Given the description of an element on the screen output the (x, y) to click on. 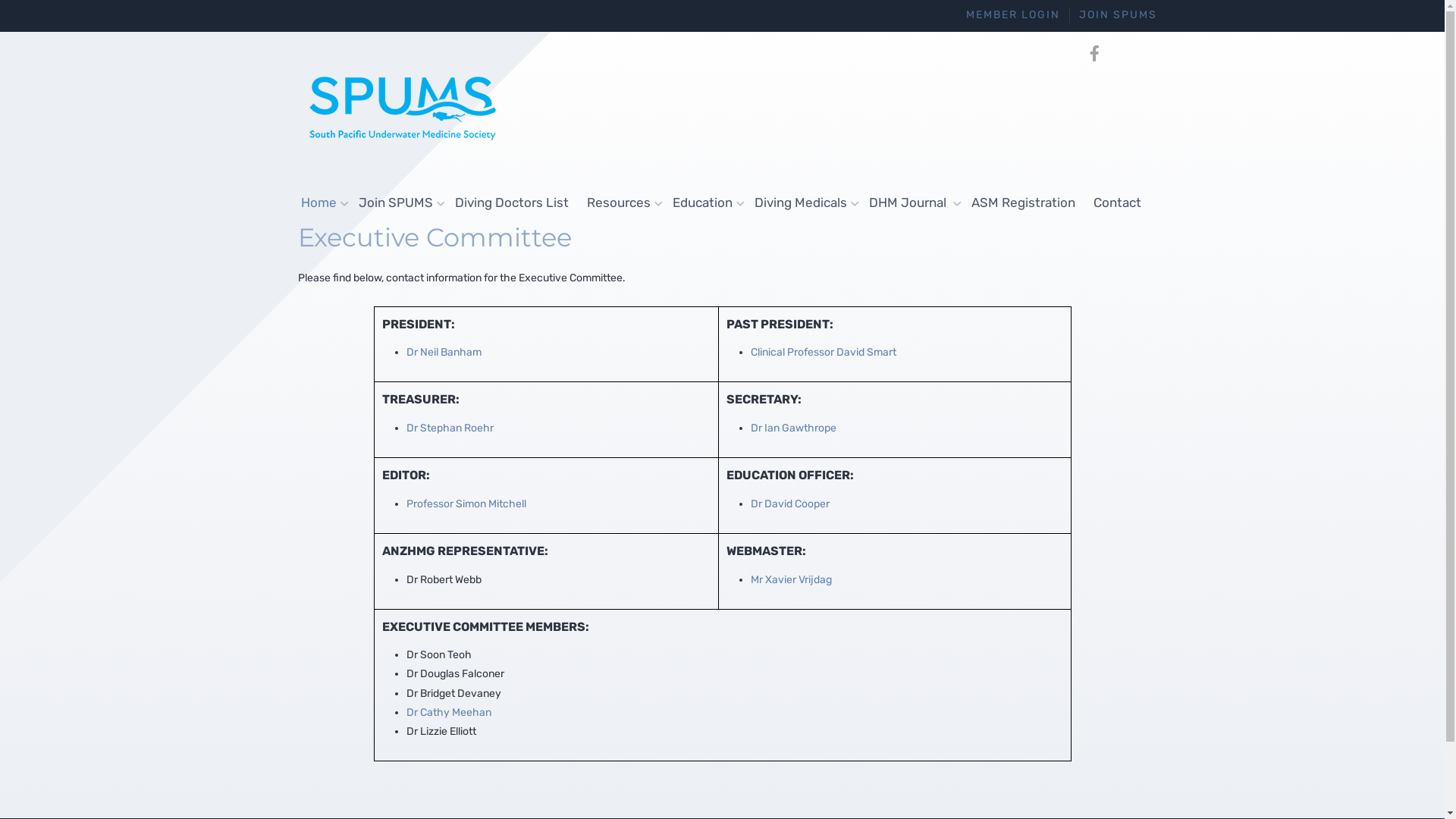
Clinical Professor David Smart Element type: text (823, 351)
Resources Element type: text (620, 202)
Join SPUMS Element type: text (396, 202)
Dr Stephan Roehr Element type: text (449, 427)
Education Element type: text (703, 202)
Dr Neil Banham Element type: text (443, 351)
JOIN SPUMS Element type: text (1117, 15)
Dr Cathy Meehan Element type: text (448, 712)
Facebook Element type: text (1094, 53)
ASM Registration Element type: text (1022, 202)
Professor Simon Mitchell Element type: text (466, 503)
Mr Xavier Vrijdag Element type: text (790, 579)
South Pacific Underwater Medicine Society  Element type: hover (403, 106)
Home Element type: text (319, 202)
Diving Medicals Element type: text (801, 202)
DHM Journal Element type: text (911, 202)
Emergency numbers Element type: text (1119, 53)
Contact Element type: text (1117, 202)
Dr David Cooper  Element type: text (790, 503)
Diving Doctors List Element type: text (511, 202)
MEMBER LOGIN Element type: text (1013, 15)
Dr Ian Gawthrope Element type: text (793, 427)
